Given the description of an element on the screen output the (x, y) to click on. 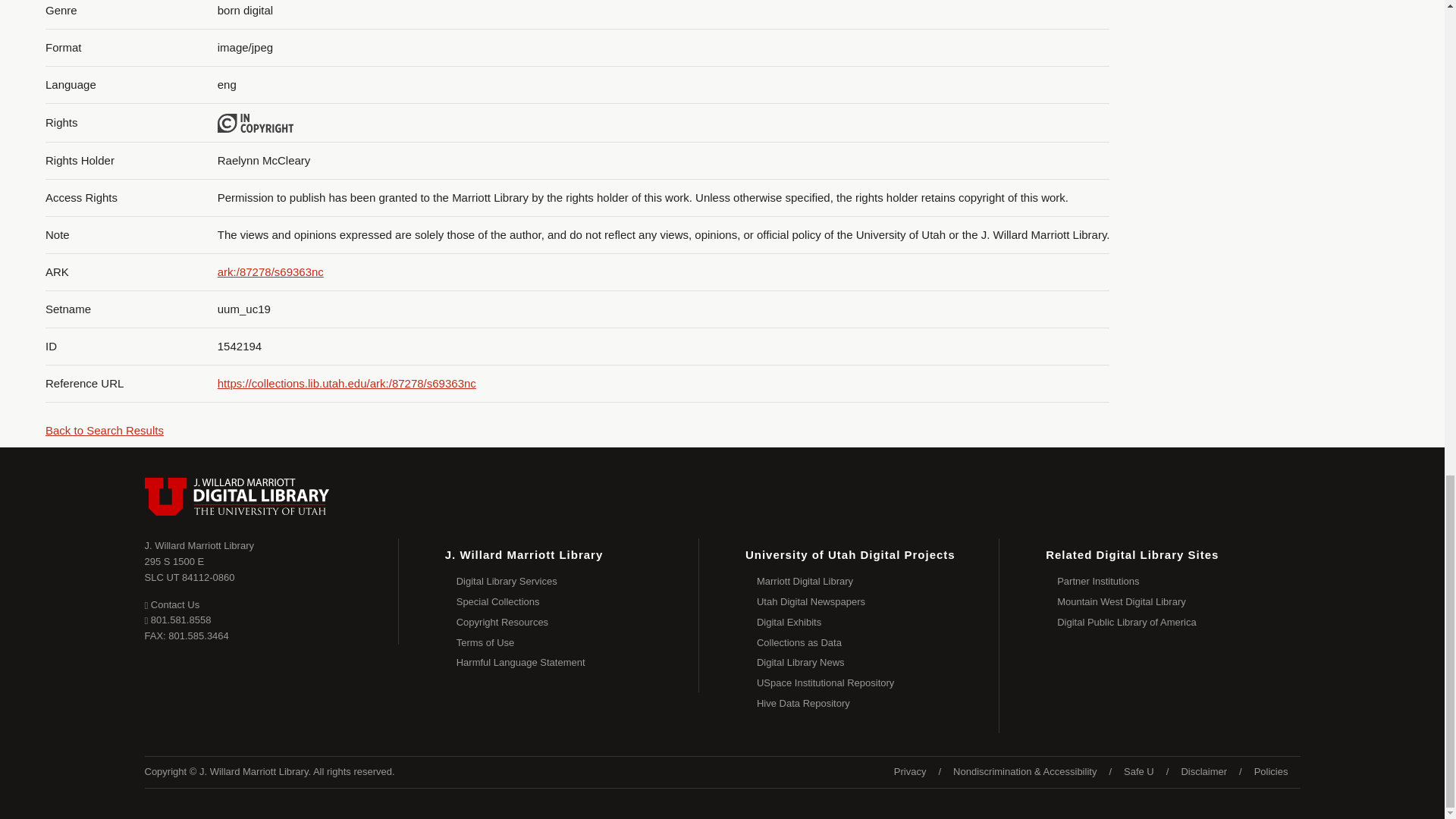
Digital Library Services (577, 581)
Collections as Data (877, 643)
Copyright Resources (577, 622)
Terms of Use (577, 643)
Back to Search Results (104, 430)
Harmful Language Statement (577, 662)
IN COPYRIGHT (255, 123)
Special Collections (577, 602)
J. Willard Marriott Library (198, 545)
Contact Us (171, 604)
Utah Digital Newspapers (877, 602)
Marriott Digital Library (877, 581)
Digital Exhibits (877, 622)
